Given the description of an element on the screen output the (x, y) to click on. 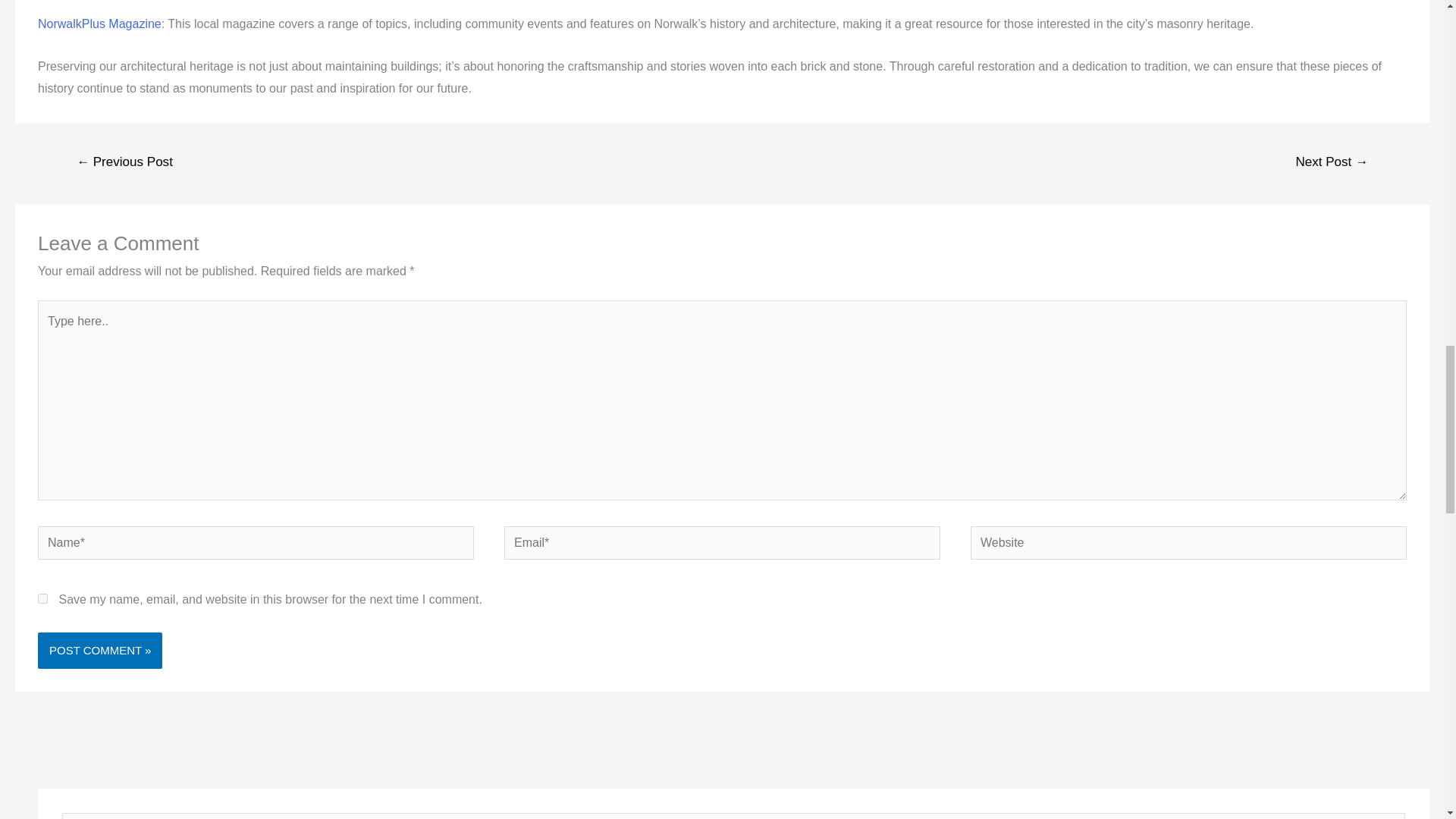
Search (1388, 816)
yes (42, 598)
Search (1388, 816)
